Given the description of an element on the screen output the (x, y) to click on. 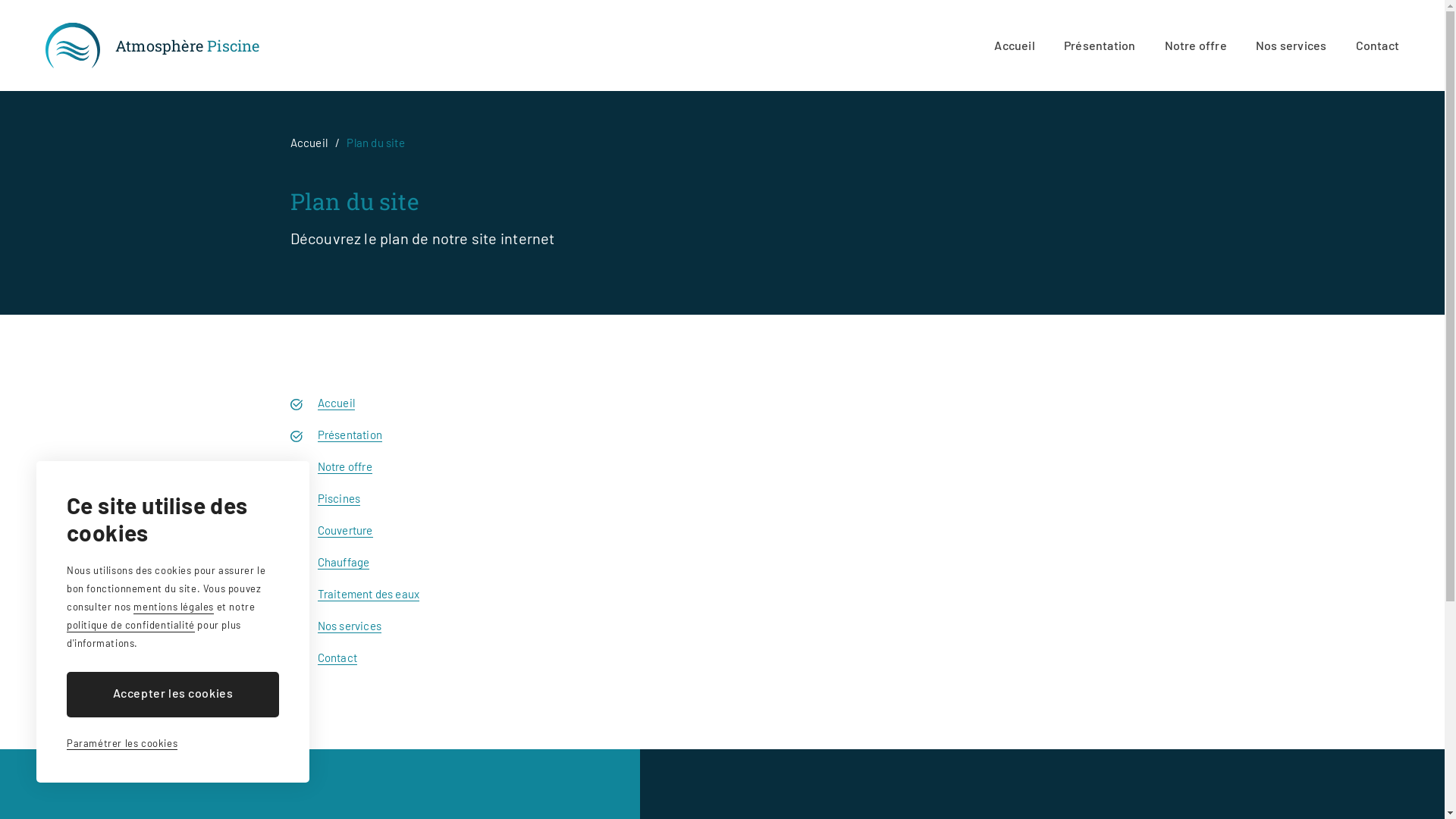
Notre offre Element type: text (1195, 45)
Notre offre Element type: text (343, 466)
Contact Element type: text (1377, 45)
Plan du site Element type: text (375, 142)
Nos services Element type: text (1290, 45)
Chauffage Element type: text (342, 562)
Accueil Element type: text (335, 402)
Accueil Element type: text (1014, 45)
Piscines Element type: text (338, 498)
Accueil Element type: text (307, 142)
Nos services Element type: text (348, 625)
Traitement des eaux Element type: text (367, 593)
Contact Element type: text (336, 657)
Couverture Element type: text (344, 530)
